Given the description of an element on the screen output the (x, y) to click on. 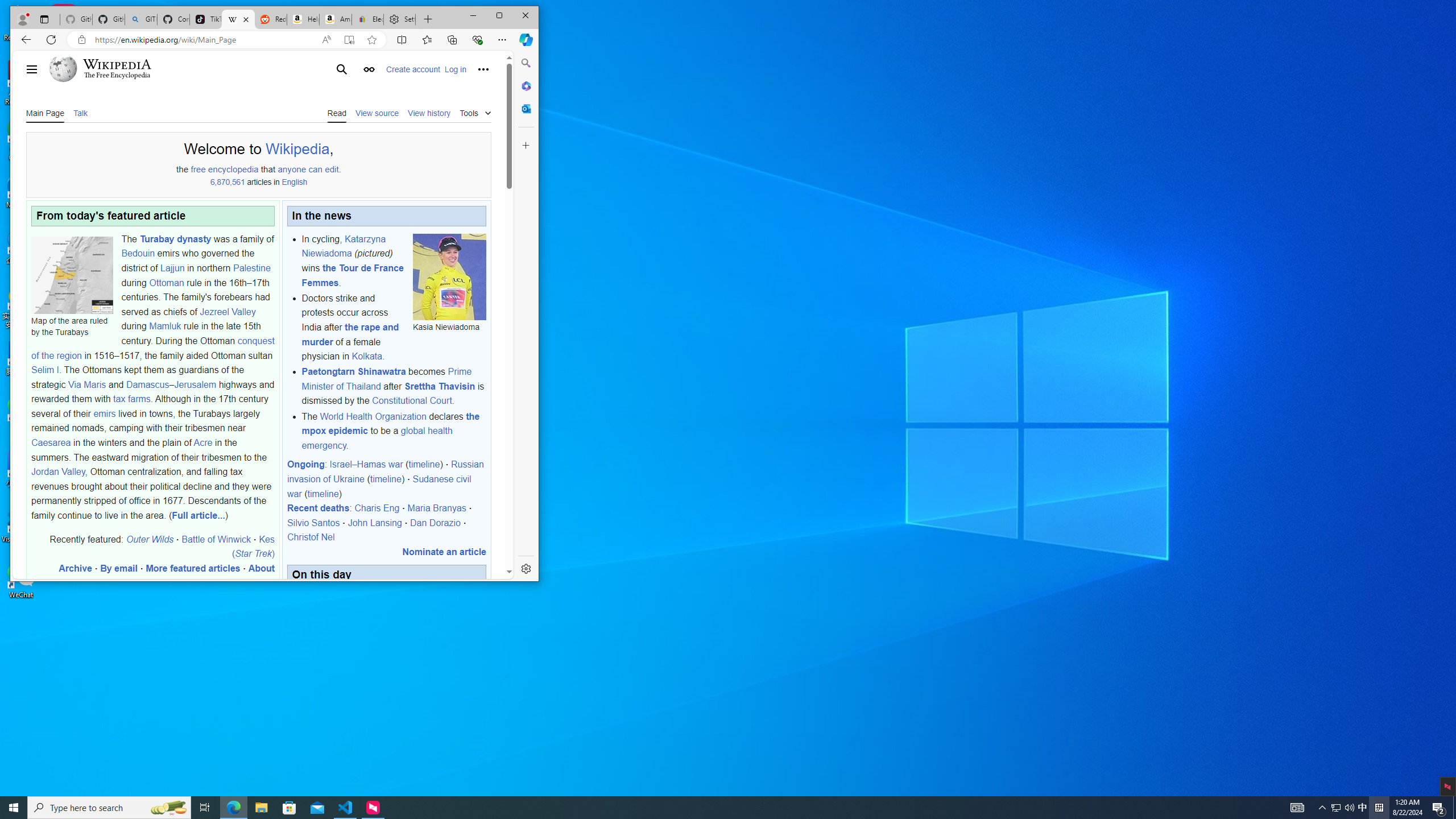
Katarzyna Niewiadoma (343, 245)
Maximize (499, 15)
Read (336, 112)
Wikipedia (297, 148)
Jordan Valley (57, 471)
The Free Encyclopedia (116, 75)
the mpox epidemic (390, 423)
